Given the description of an element on the screen output the (x, y) to click on. 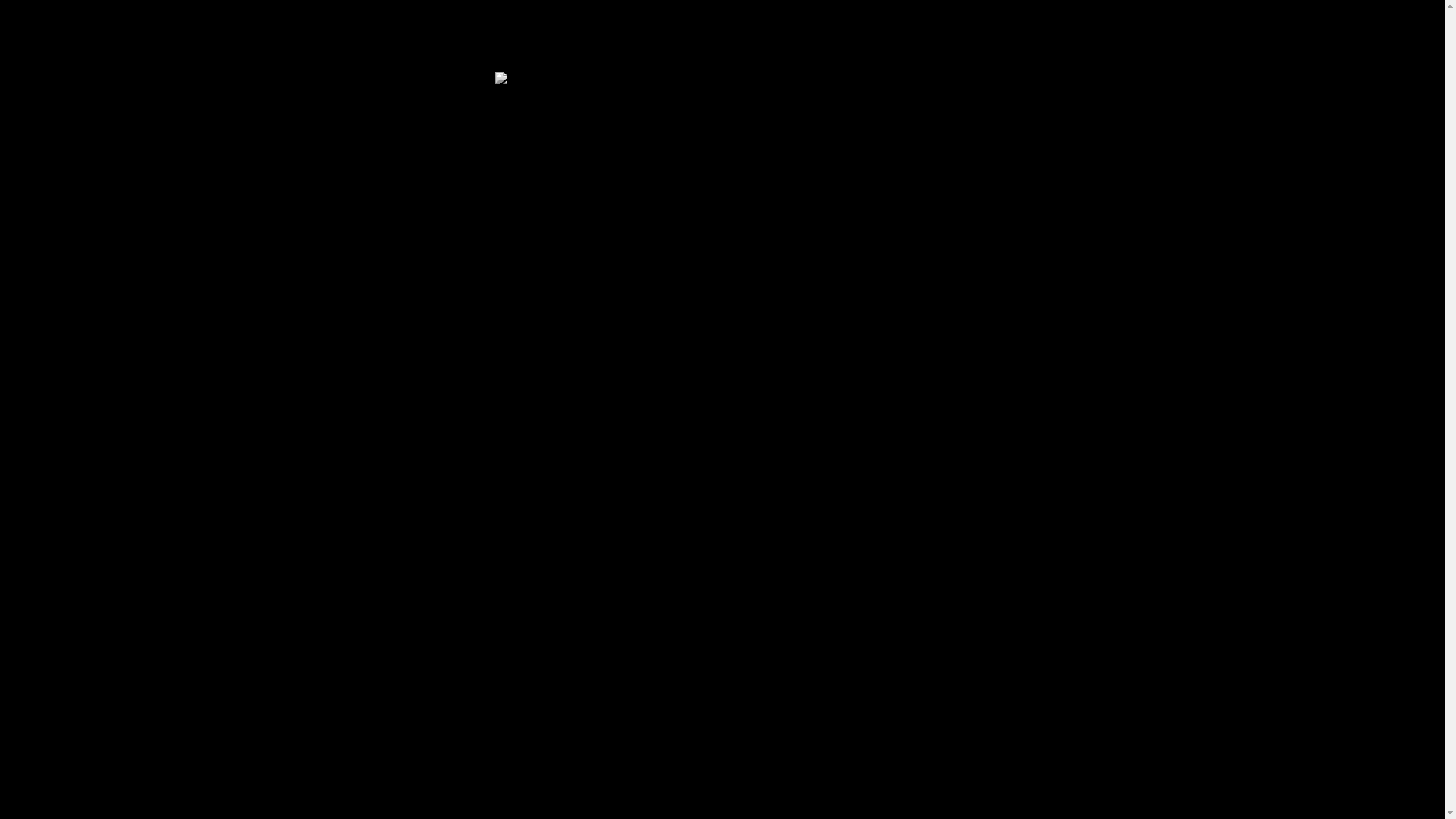
Codeco House Element type: hover (540, 78)
